Given the description of an element on the screen output the (x, y) to click on. 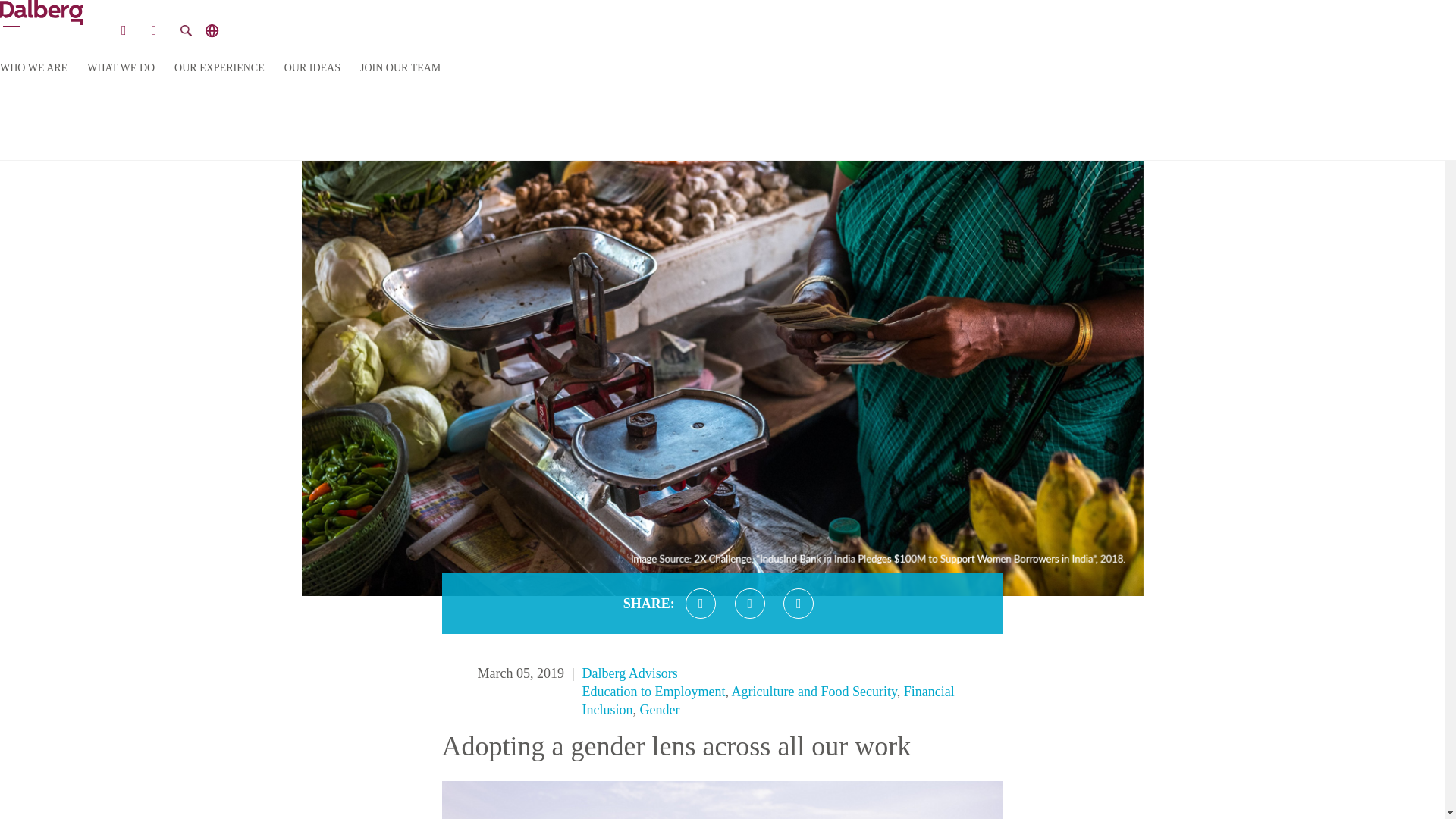
WHO WE ARE (33, 67)
WHAT WE DO (120, 67)
JOIN OUR TEAM (400, 67)
Dalberg Advisors (630, 672)
OUR EXPERIENCE (219, 67)
OUR IDEAS (311, 67)
